Given the description of an element on the screen output the (x, y) to click on. 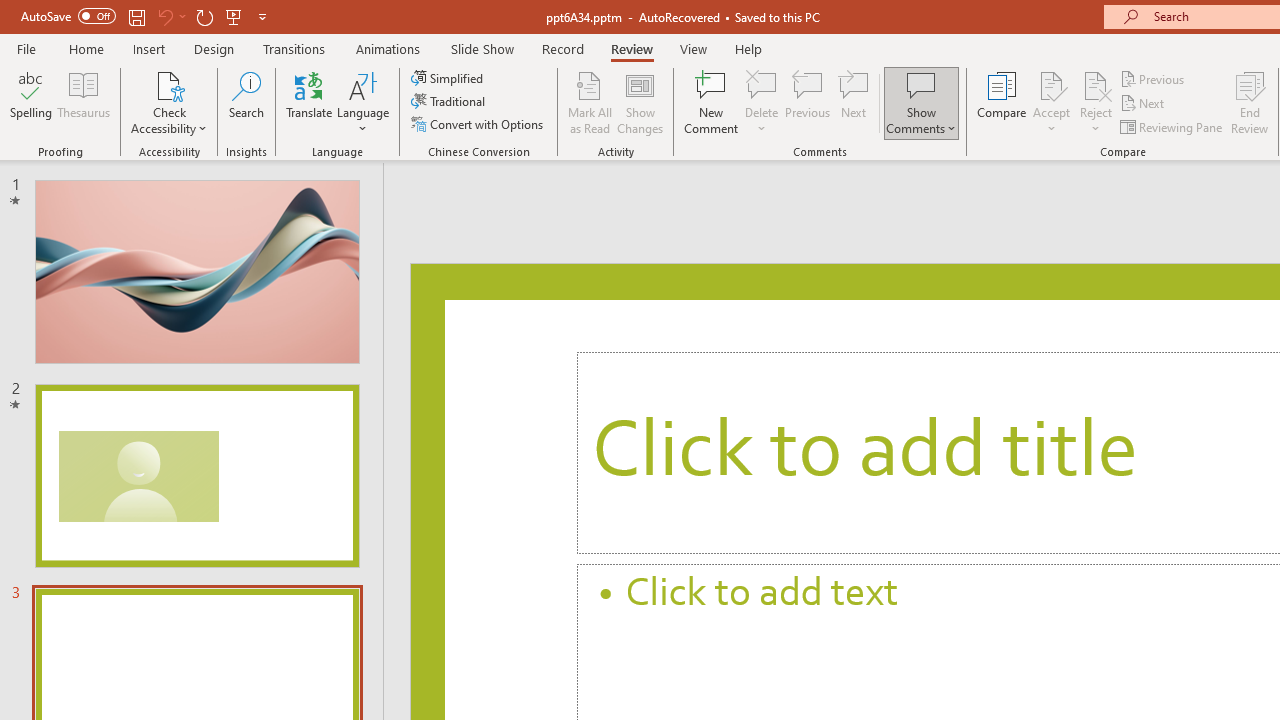
Mark All as Read (589, 102)
Reviewing Pane (1172, 126)
Compare (1002, 102)
Show Changes (639, 102)
Translate (309, 102)
